Given the description of an element on the screen output the (x, y) to click on. 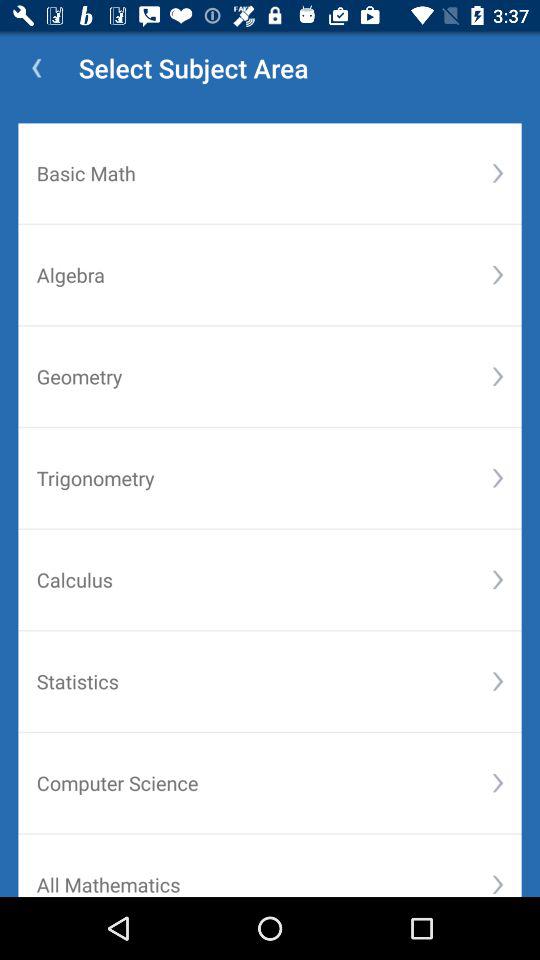
select the sixth drop down button (497, 681)
click on the button right to the text basic math (497, 173)
click on the button right to the text trigonometry (497, 478)
select the fifth drop down button (497, 580)
